Given the description of an element on the screen output the (x, y) to click on. 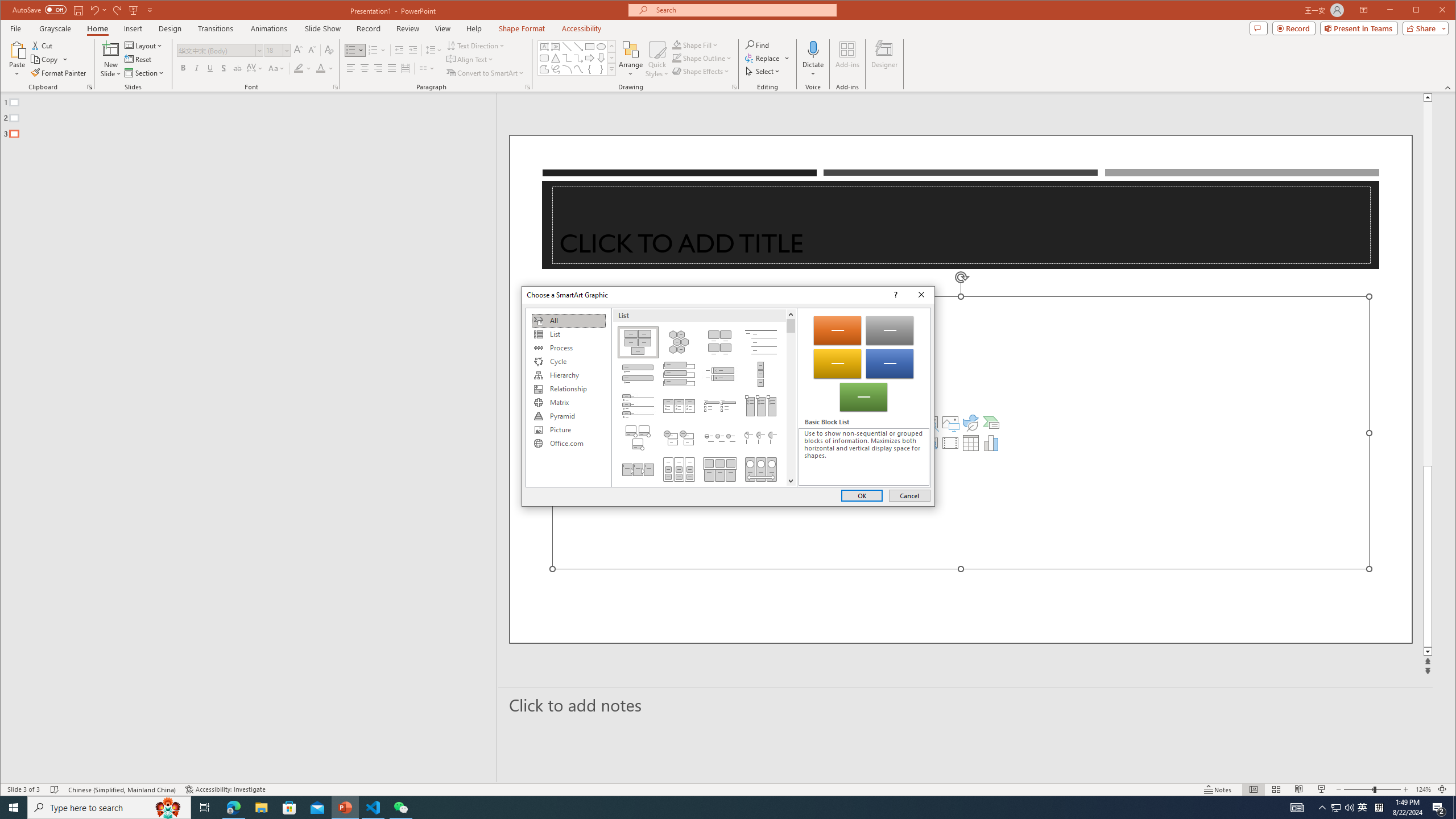
Paste (17, 48)
Notification Chevron (1322, 807)
Class: MsoCommandBar (728, 789)
Dictate (812, 48)
Tab List (637, 405)
Shape Outline Blue, Accent 1 (676, 57)
Replace... (763, 57)
Slide Notes (965, 704)
Varying Width List (761, 373)
Insert Table (970, 443)
Open (285, 50)
Rectangle: Rounded Corners (544, 57)
Format Painter (59, 72)
